Given the description of an element on the screen output the (x, y) to click on. 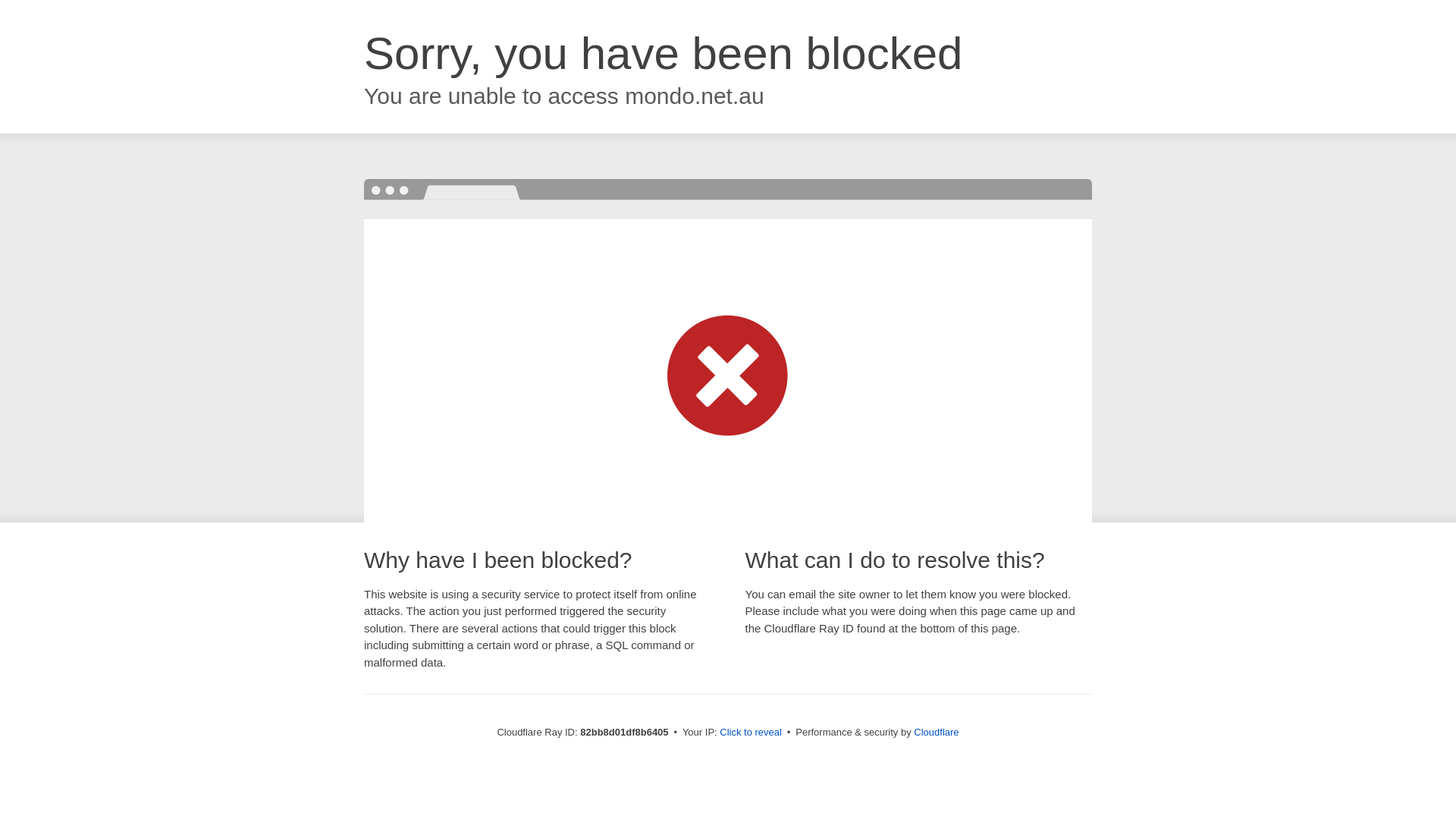
Click to reveal Element type: text (750, 732)
Cloudflare Element type: text (935, 731)
